Given the description of an element on the screen output the (x, y) to click on. 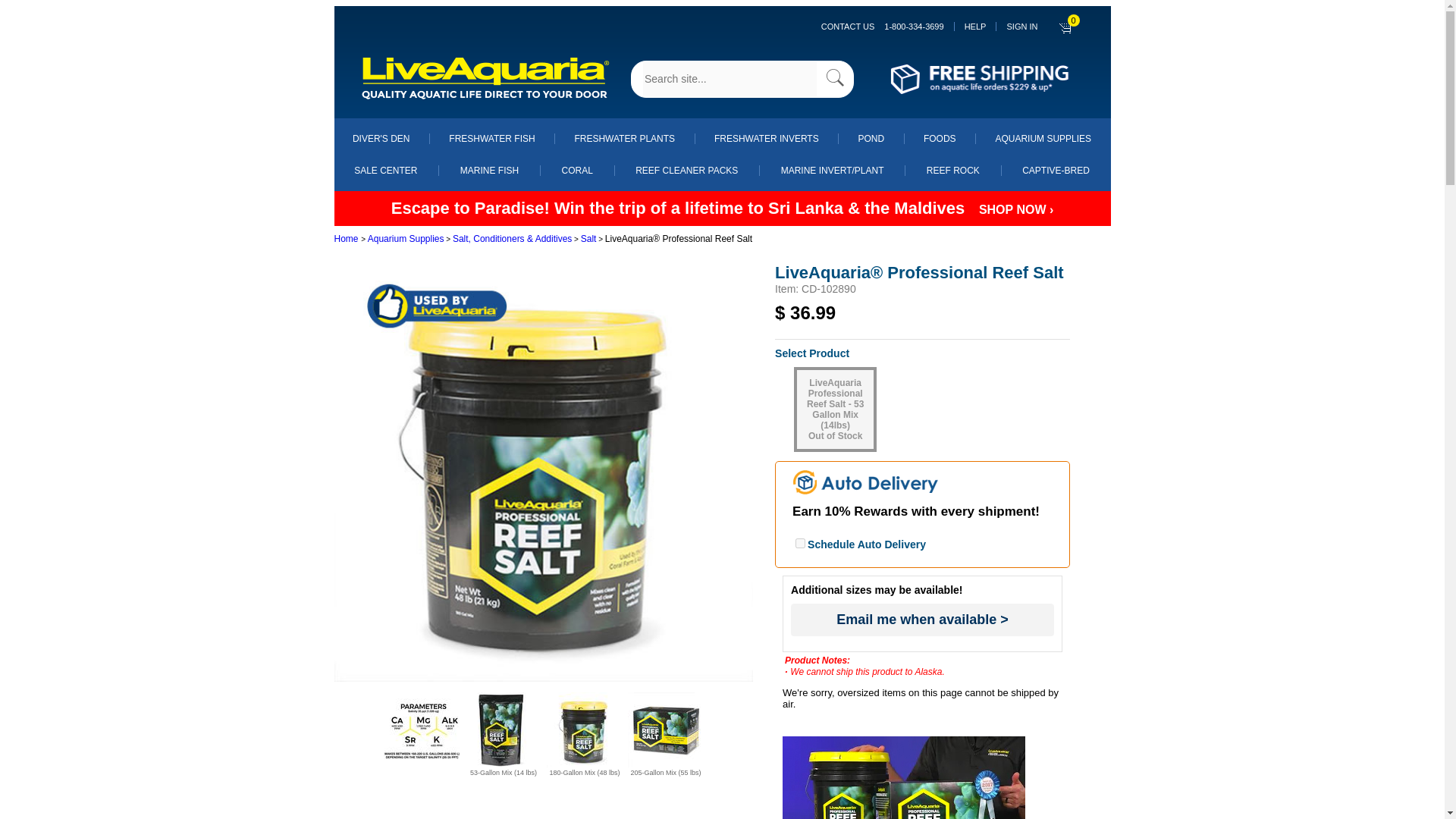
Marine Fish (489, 170)
Coral (577, 170)
true (799, 542)
Edit Shopping Cart (1066, 26)
Freshwater Inverts (766, 138)
Freshwater Fish (491, 138)
Captive-Bred (1055, 170)
Reef Cleaner Packs (686, 170)
Freshwater Plants (624, 138)
Foods (939, 138)
